Given the description of an element on the screen output the (x, y) to click on. 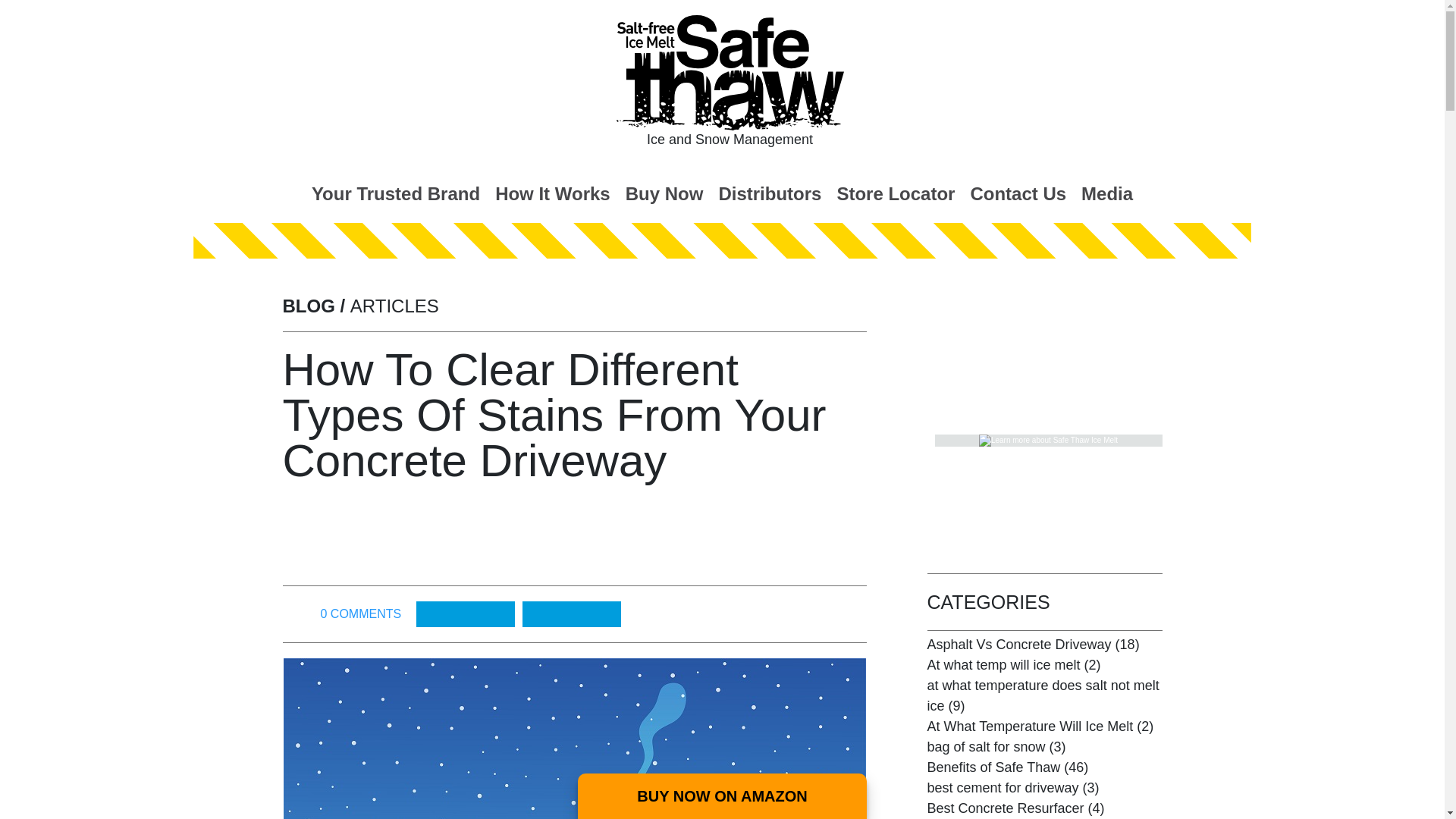
Store Locator (895, 193)
BLOG (308, 305)
Distributors (769, 193)
How It Works (552, 193)
Contact Us (1017, 193)
Media (1106, 193)
Safe Thaw (729, 72)
Buy Now (664, 193)
Your Trusted Brand (395, 193)
